Given the description of an element on the screen output the (x, y) to click on. 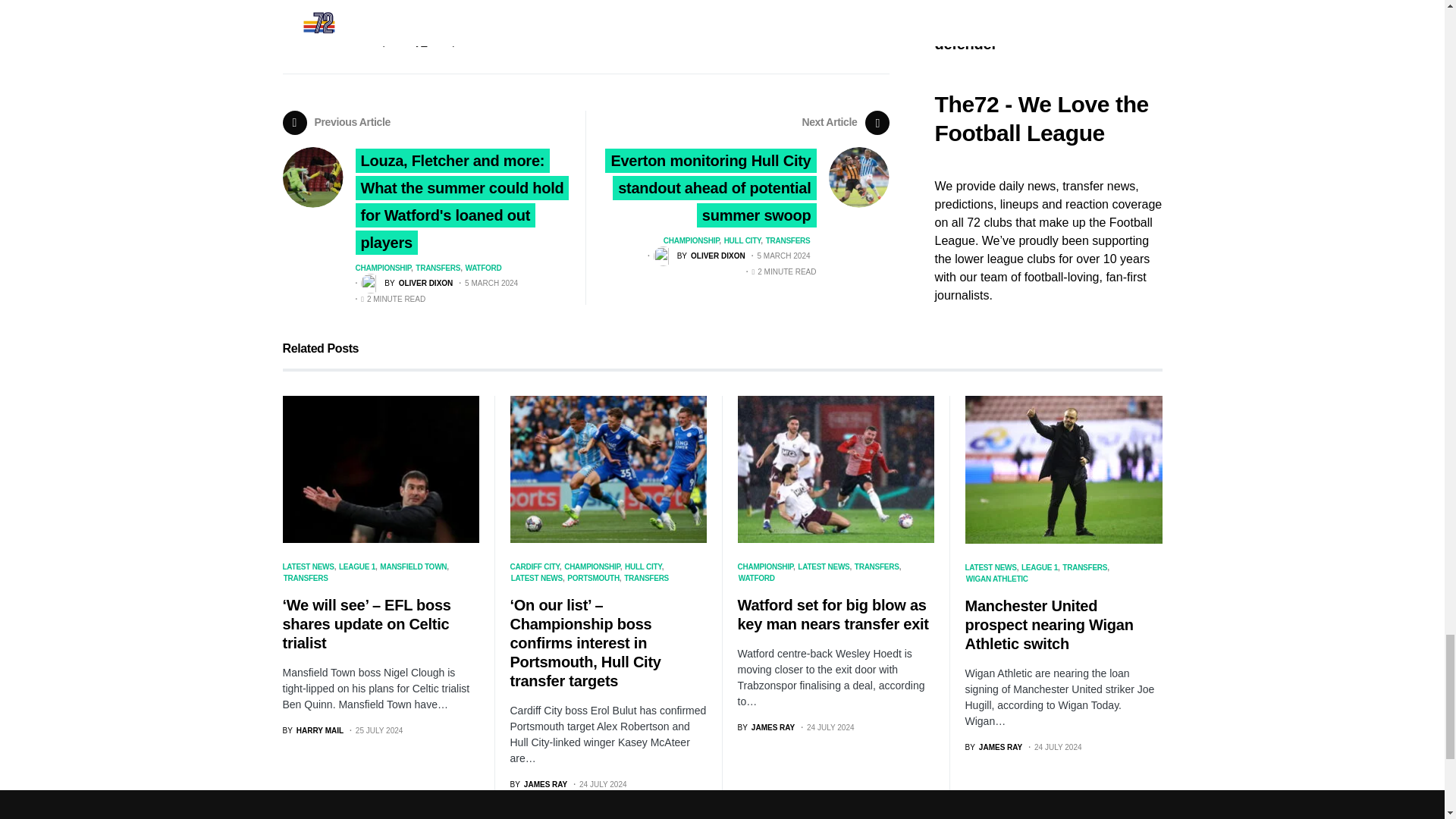
View all posts by Oliver Dixon (406, 283)
View all posts by James Ray (992, 747)
View all posts by James Ray (765, 727)
View all posts by Oliver Dixon (699, 256)
View all posts by Harry Mail (312, 730)
View all posts by James Ray (538, 784)
